Given the description of an element on the screen output the (x, y) to click on. 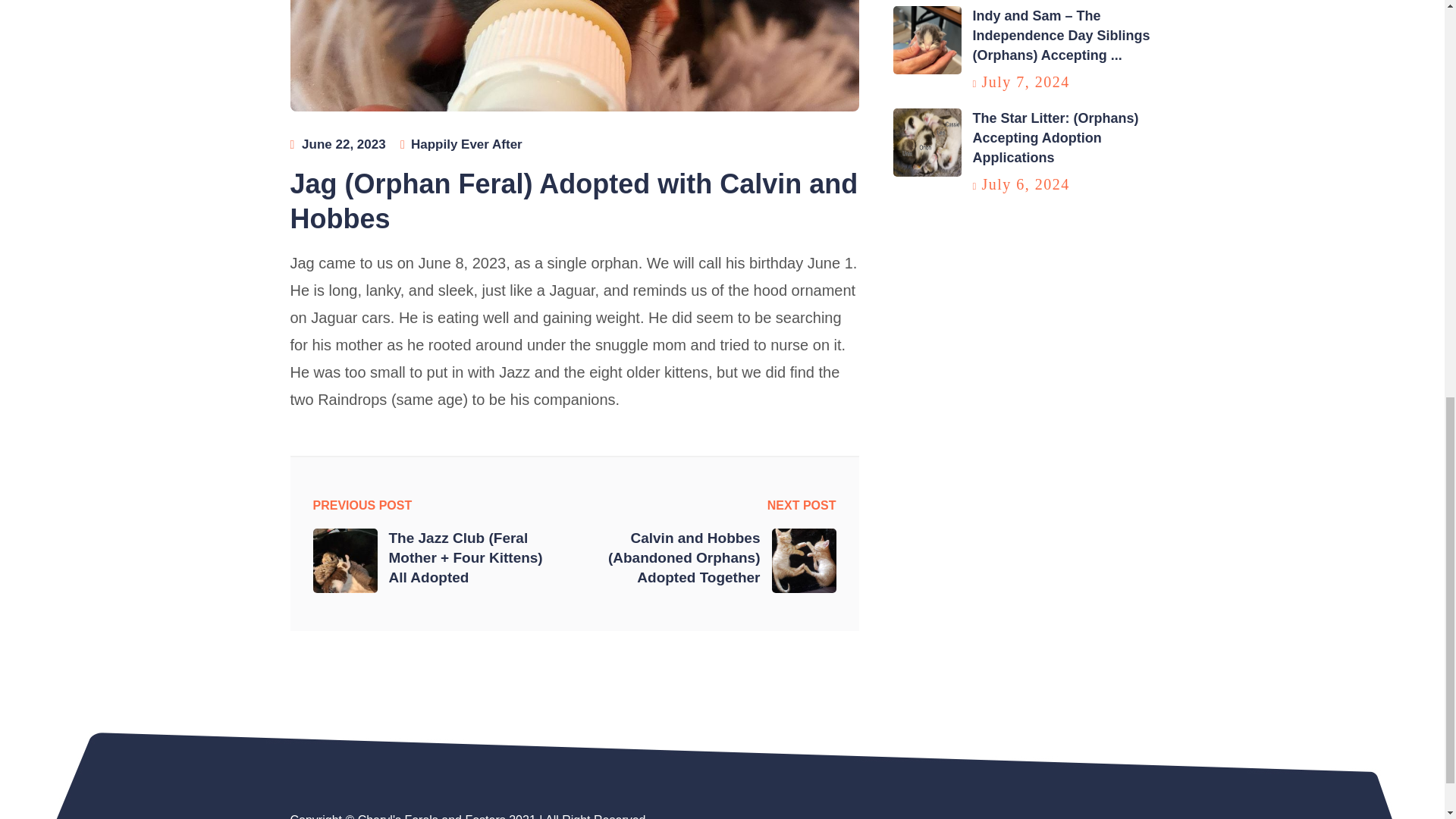
NEXT POST (801, 505)
PREVIOUS POST (362, 505)
June 22, 2023 (343, 143)
Happily Ever After (466, 143)
July 7, 2024 (1024, 81)
July 6, 2024 (1024, 184)
